Given the description of an element on the screen output the (x, y) to click on. 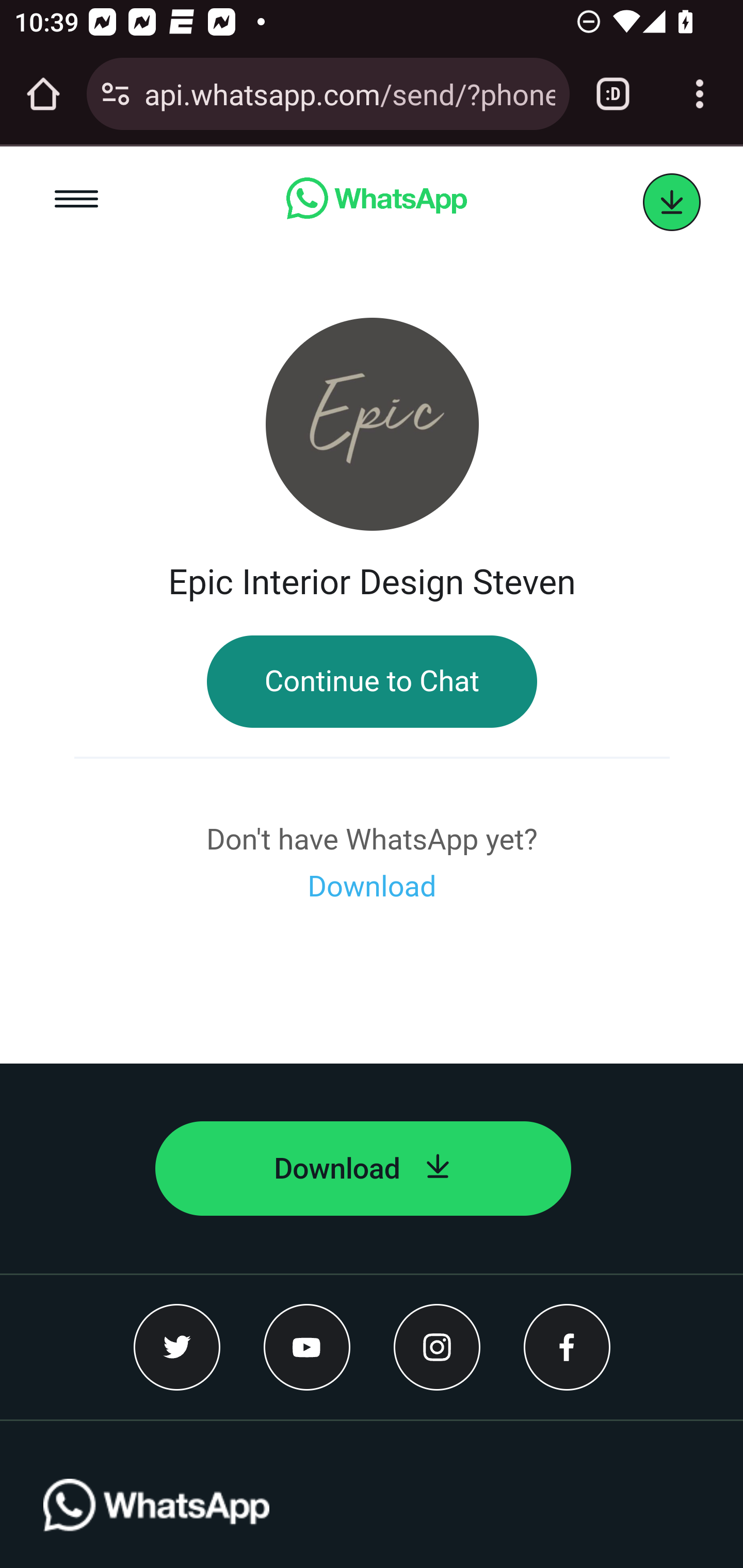
Open the home page (43, 93)
Connection is secure (115, 93)
Switch or close tabs (612, 93)
Customize and control Google Chrome (699, 93)
Open mobile menu (77, 202)
details?id=com (672, 203)
WhatsApp Main Page (376, 202)
Continue to Chat (371, 682)
Download (371, 886)
Download (363, 1168)
Twitter (177, 1347)
Youtube (307, 1347)
Instagram (436, 1347)
Facebook (566, 1347)
WhatsApp Main Logo (157, 1523)
